Given the description of an element on the screen output the (x, y) to click on. 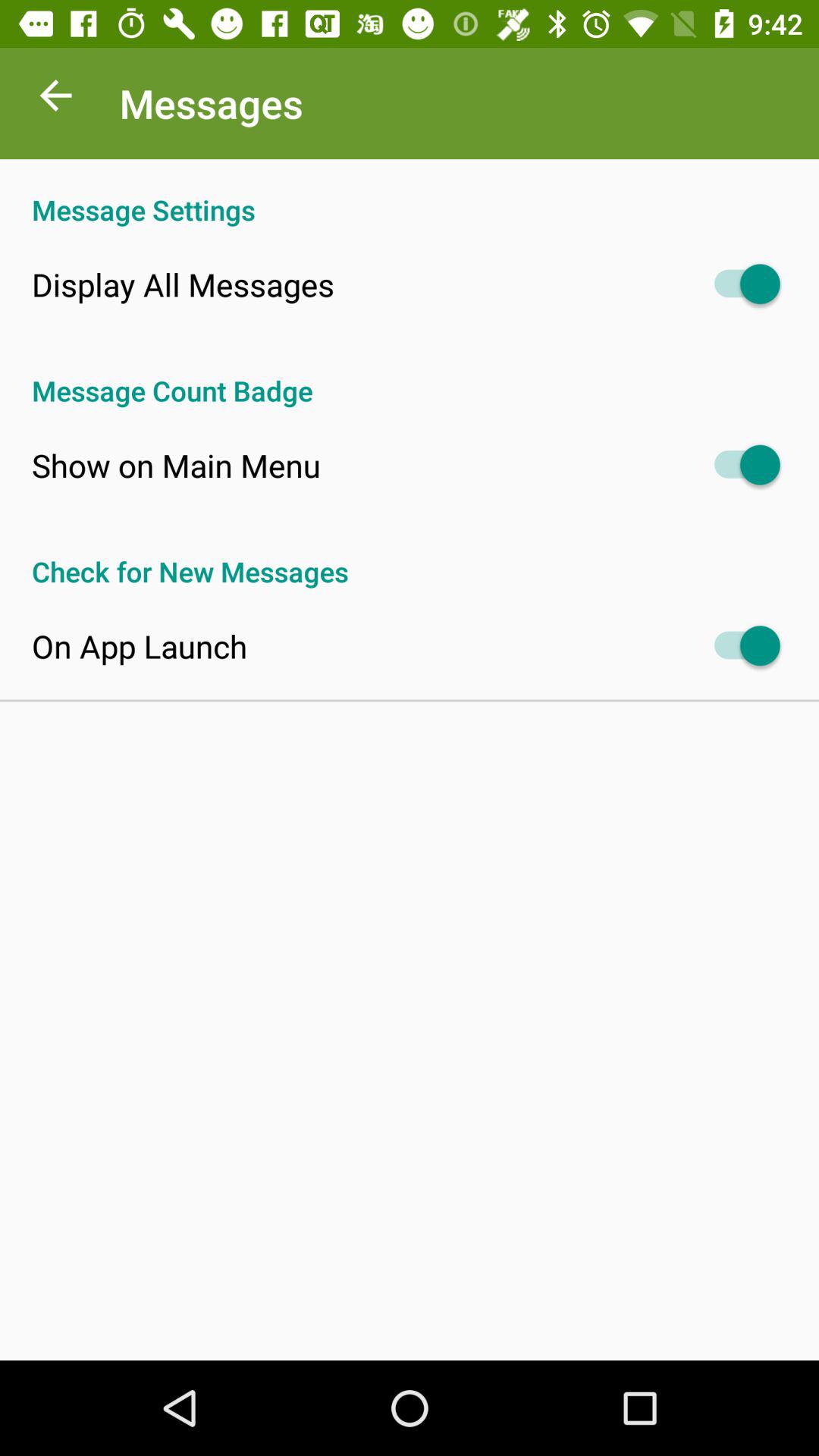
go back (55, 99)
